Given the description of an element on the screen output the (x, y) to click on. 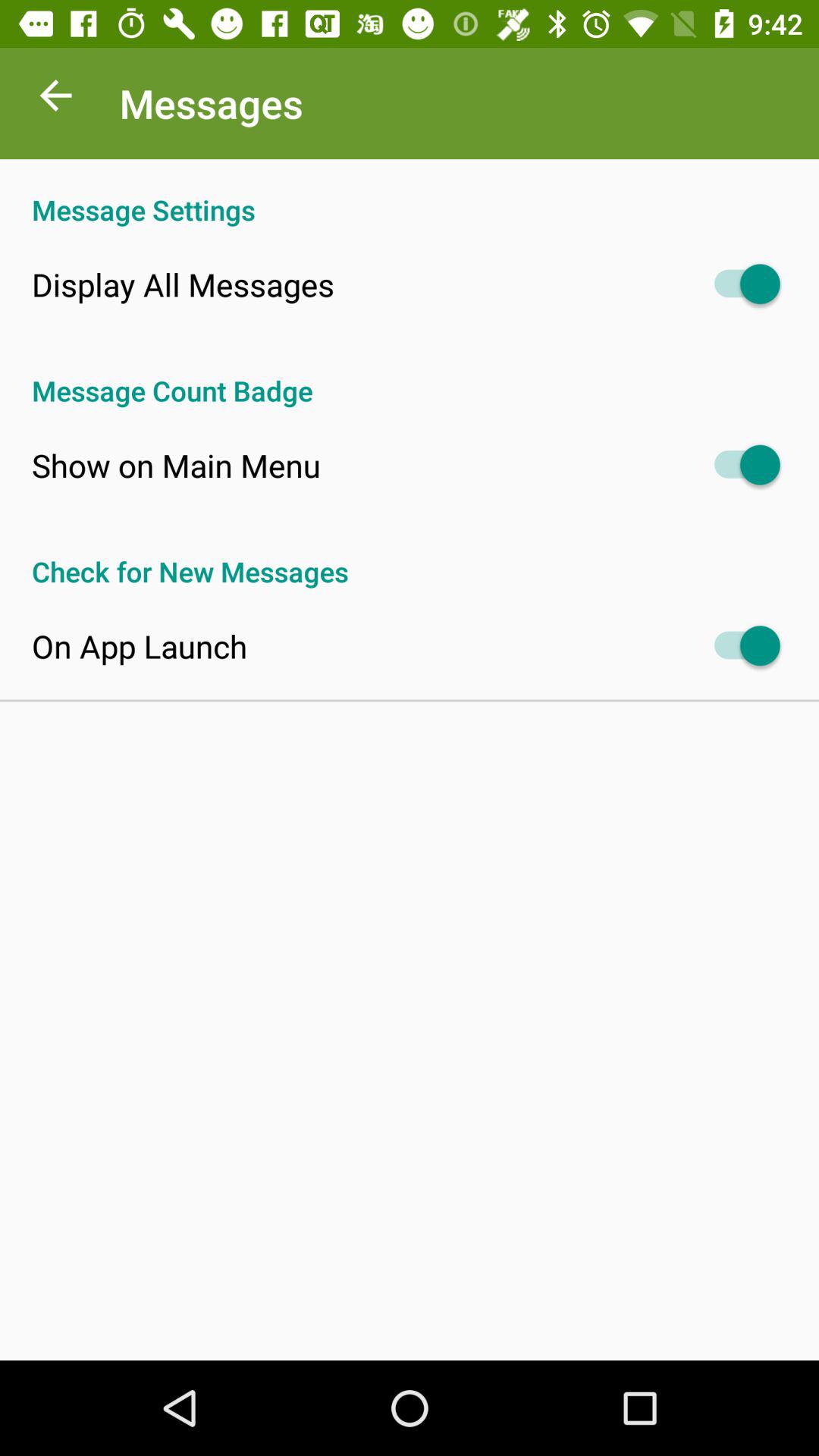
go back (55, 99)
